Given the description of an element on the screen output the (x, y) to click on. 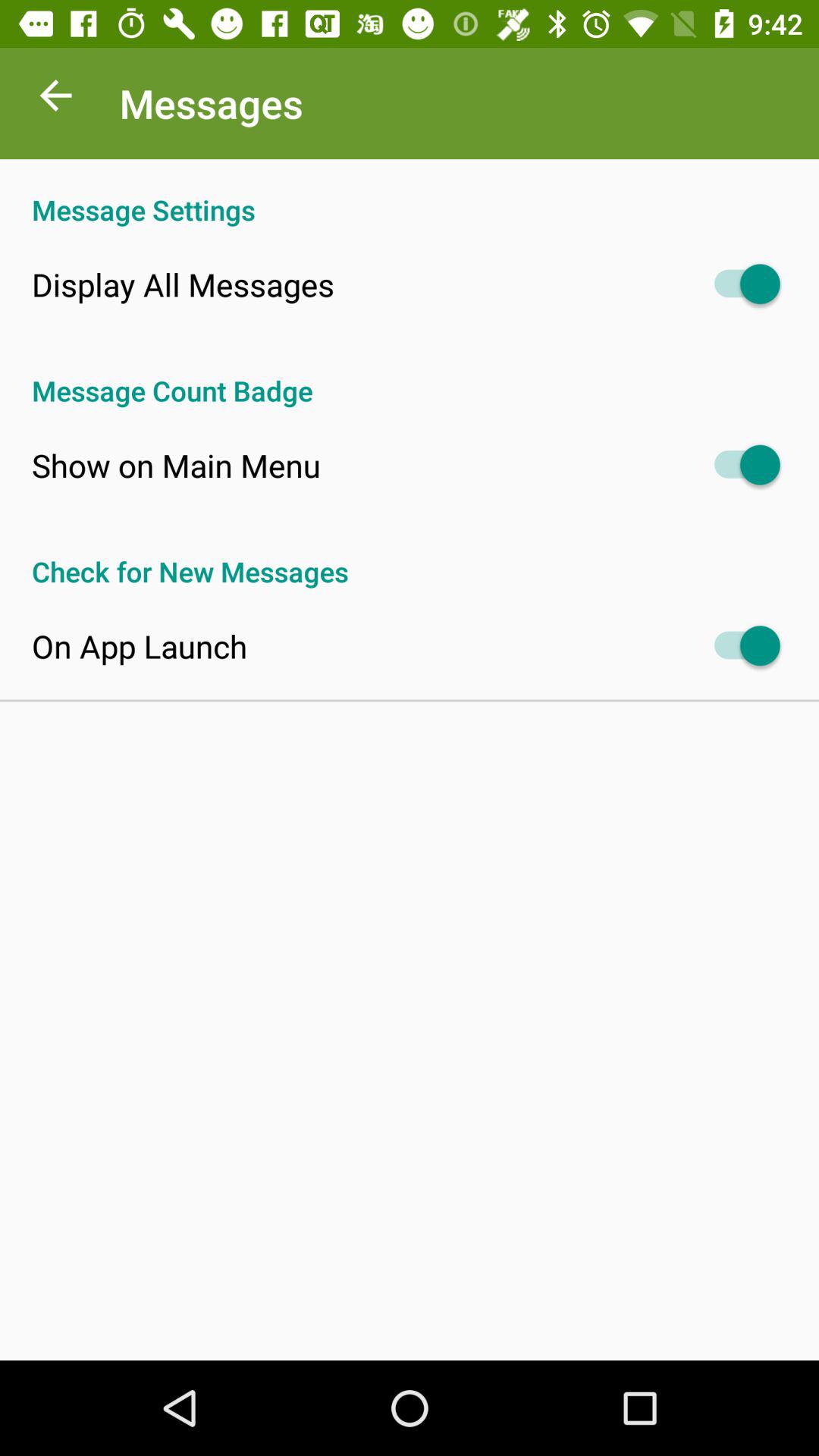
go back (55, 99)
